Given the description of an element on the screen output the (x, y) to click on. 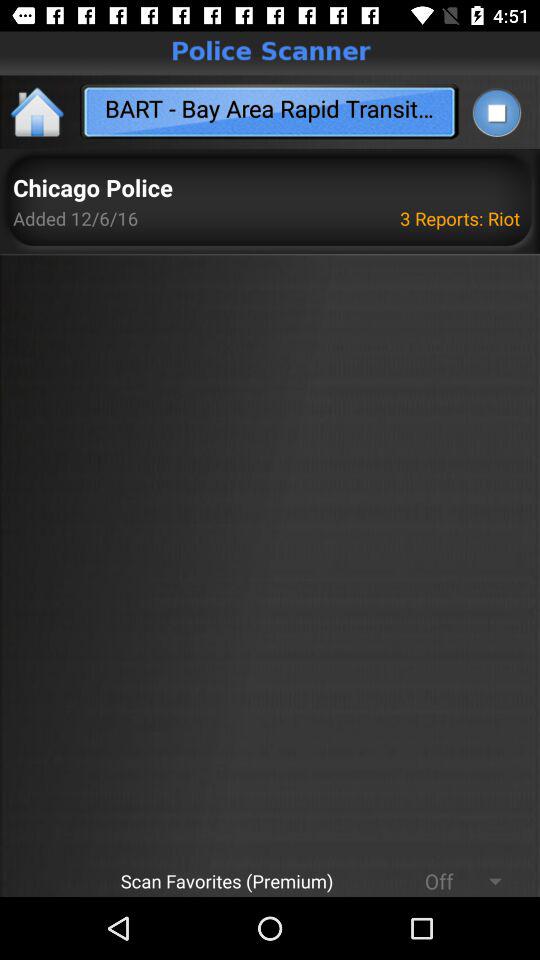
click chicago police (92, 188)
